Given the description of an element on the screen output the (x, y) to click on. 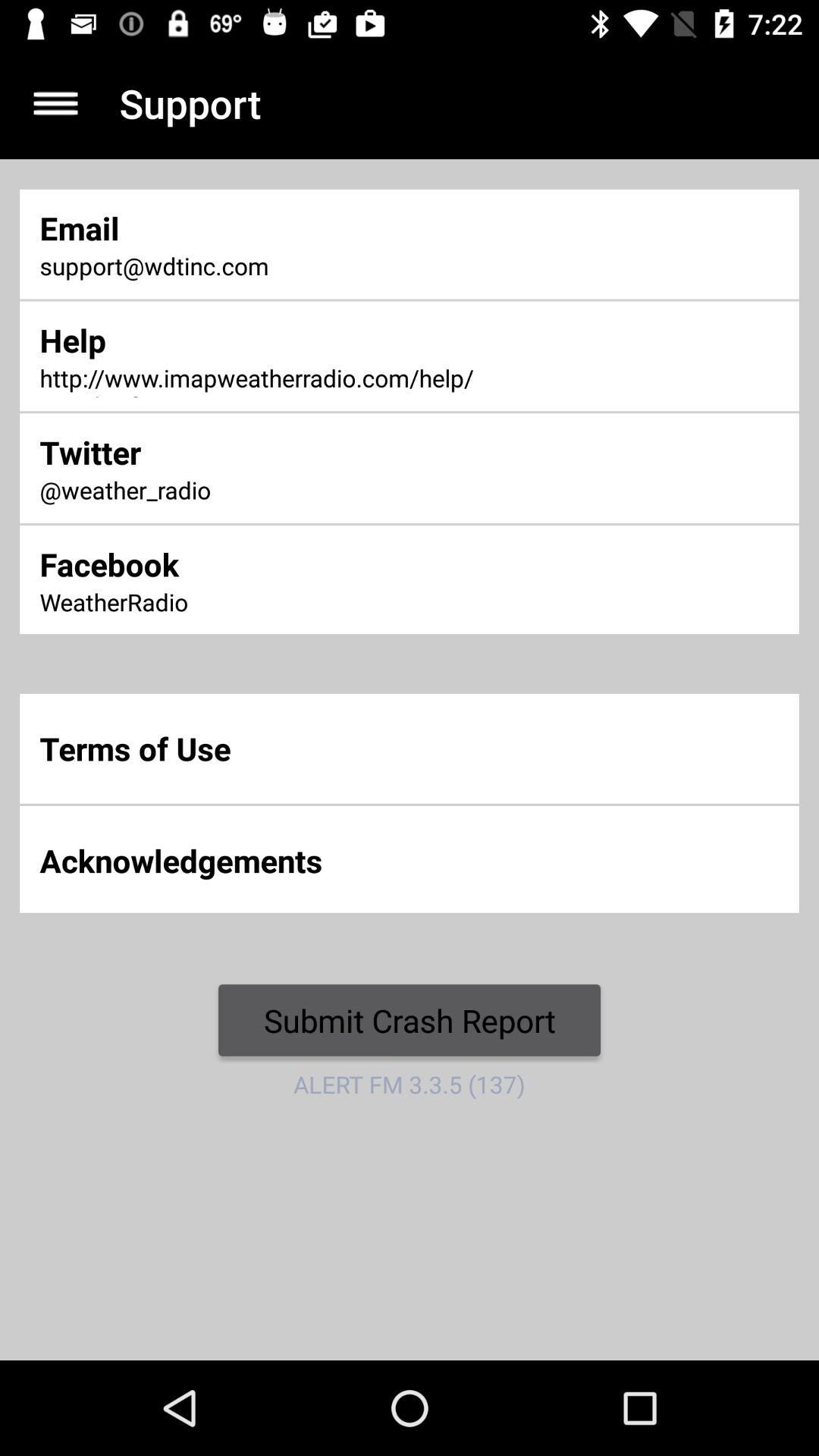
open icon above facebook icon (270, 491)
